Given the description of an element on the screen output the (x, y) to click on. 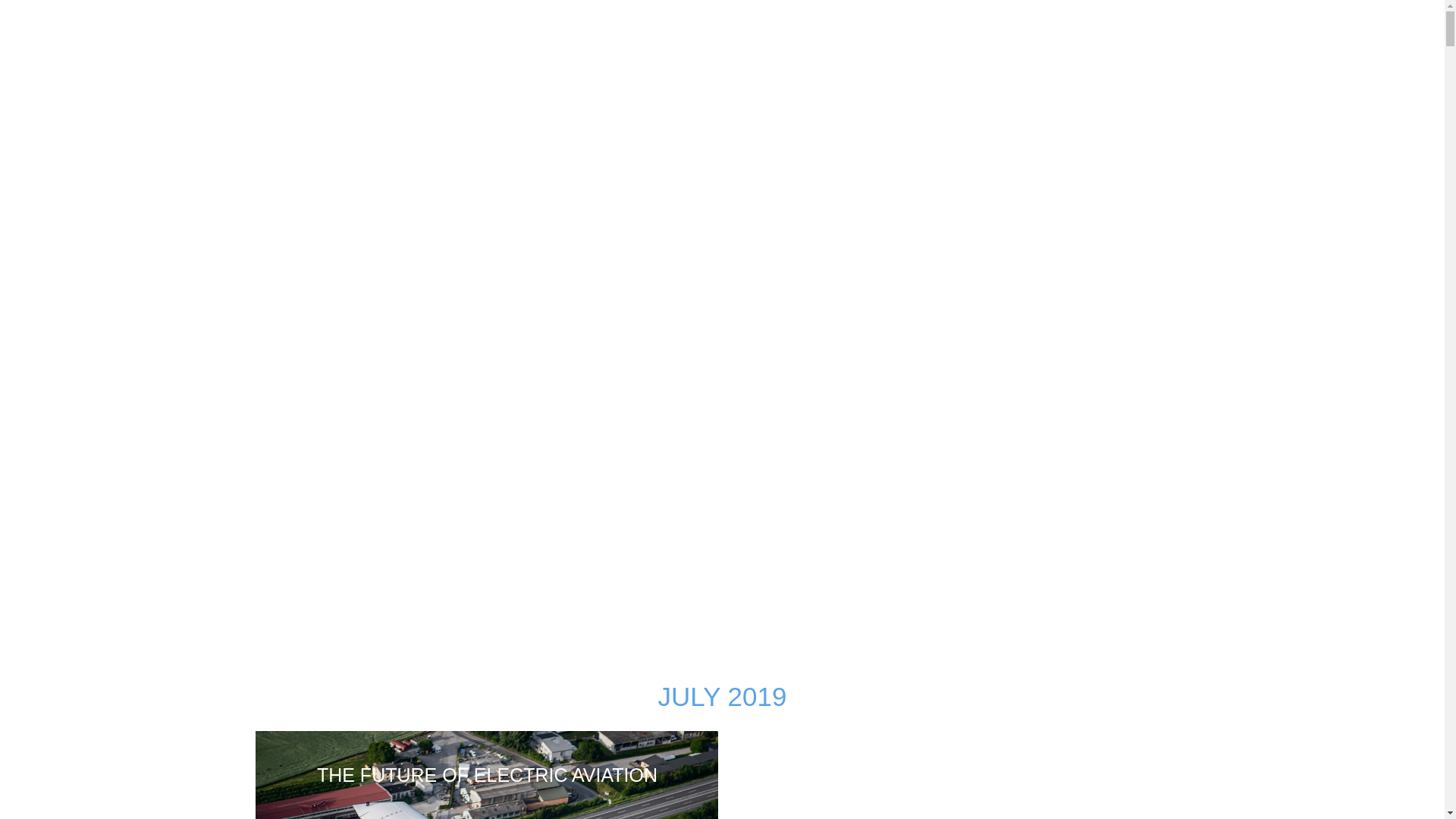
BIOGRAPHY Element type: text (923, 20)
CONTACT Element type: text (1400, 20)
BOOK Element type: text (1325, 20)
NEWS Element type: text (1262, 20)
ANDRE BORSCHBERG
ENTREPRENEUR - EXPLORER - SPEAKER Element type: text (135, 34)
AVIATION FIRST Element type: text (1039, 20)
CONFERENCES Element type: text (1166, 20)
